Given the description of an element on the screen output the (x, y) to click on. 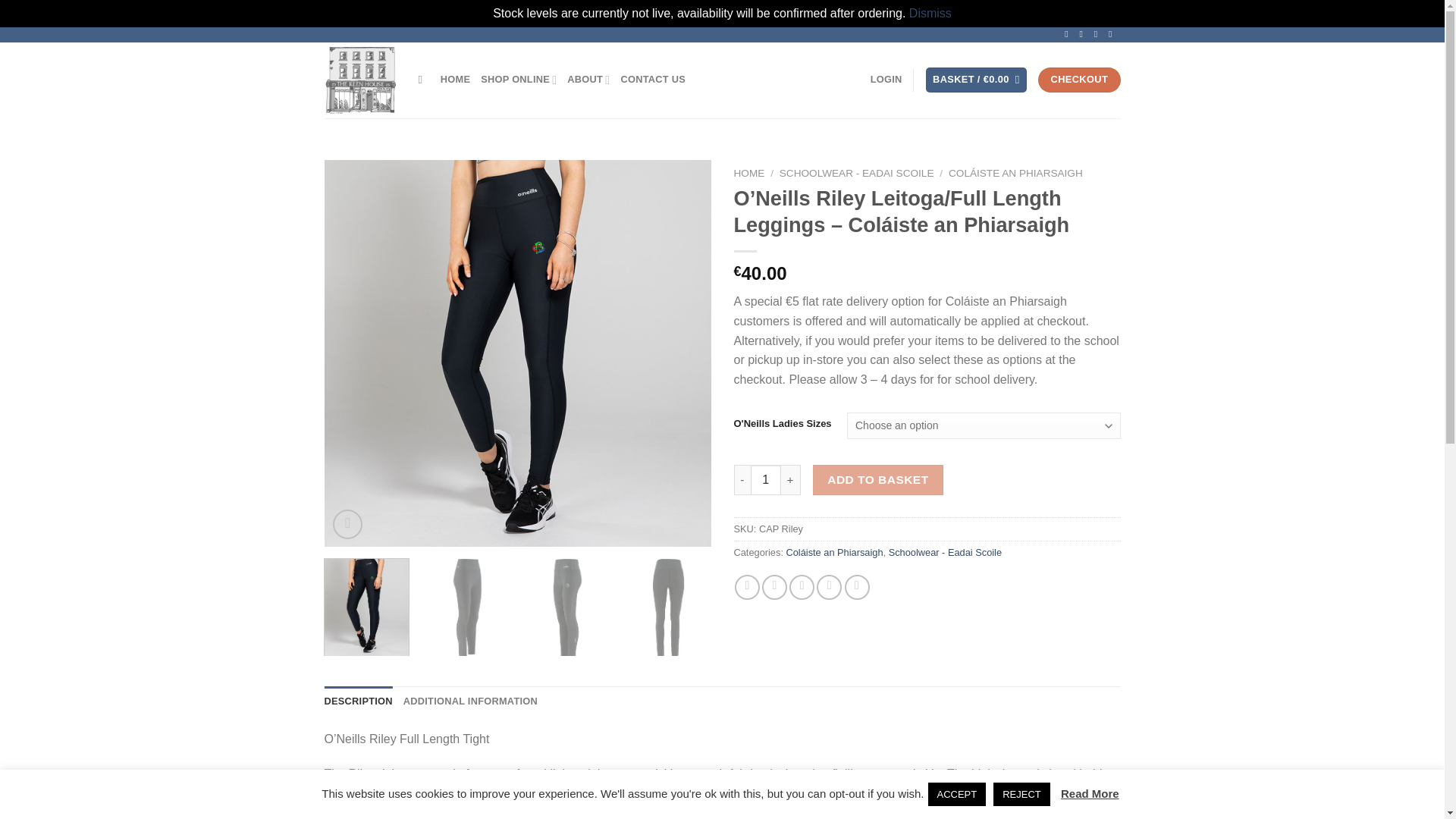
Zoom (347, 523)
Dismiss (930, 12)
Email to a Friend (801, 586)
ABOUT (588, 79)
1 (765, 480)
Share on Facebook (747, 586)
Login (886, 79)
HOME (455, 79)
Pin on Pinterest (828, 586)
